Given the description of an element on the screen output the (x, y) to click on. 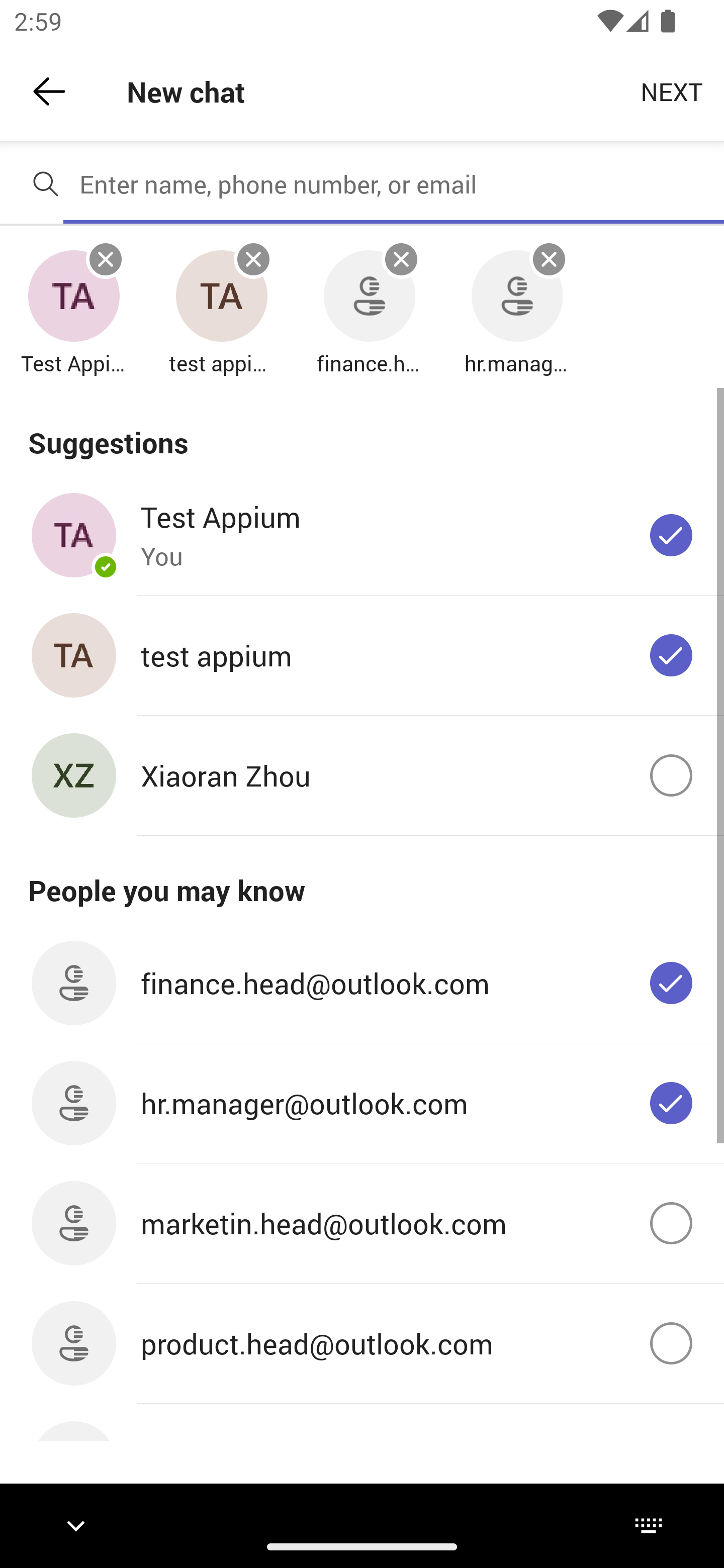
Back (49, 91)
NEXT (671, 90)
Enter name, phone number, or email (393, 184)
Remove (105, 259)
Remove (252, 259)
Remove (400, 259)
Remove (548, 259)
Test Appium profile picture (73, 295)
test appium profile picture (221, 295)
finance.head@outlook.com profile picture (369, 295)
hr.manager@outlook.com profile picture (517, 295)
Suggestions section header Suggestions (362, 431)
